Given the description of an element on the screen output the (x, y) to click on. 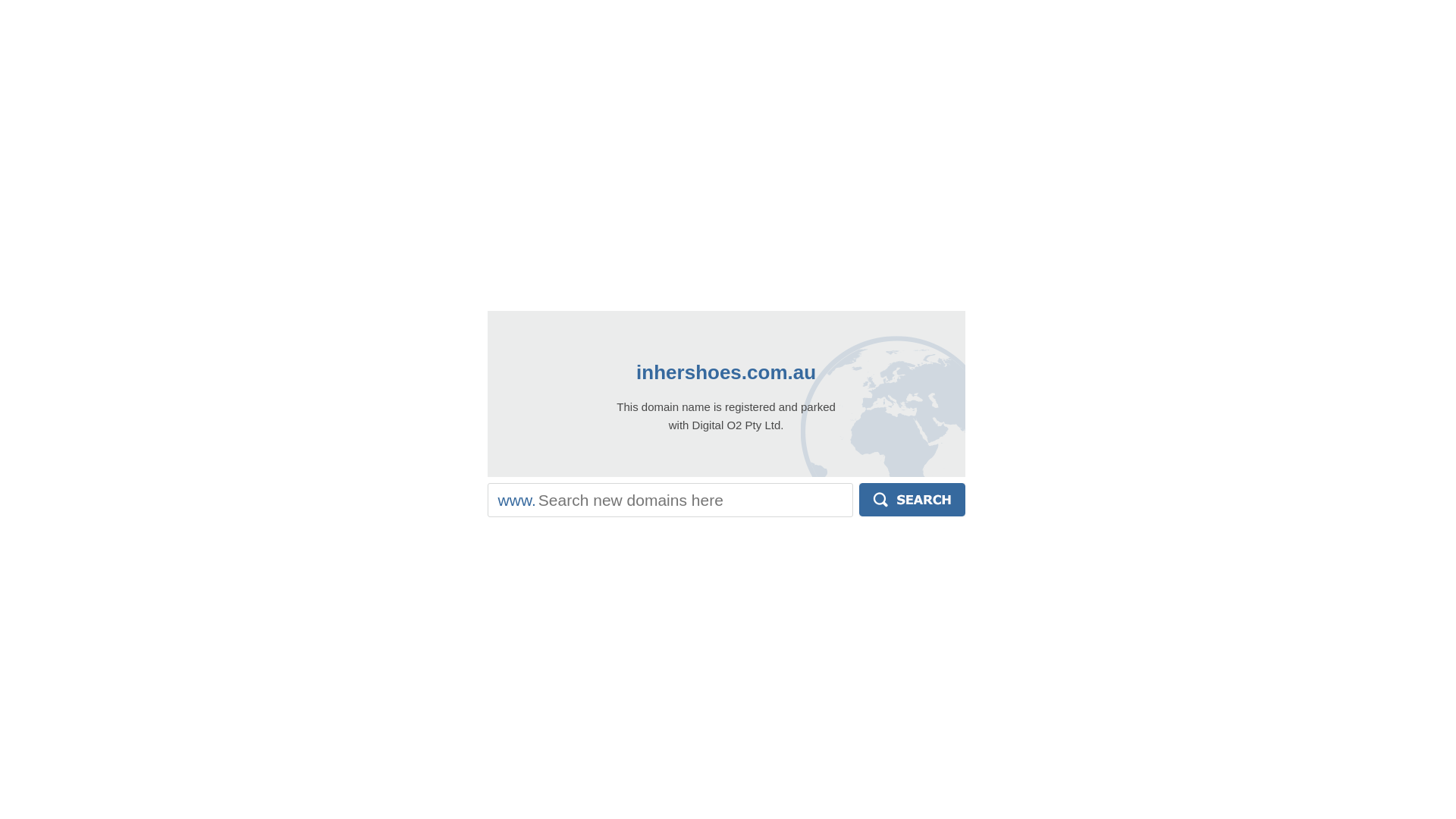
Search Element type: text (912, 499)
